Given the description of an element on the screen output the (x, y) to click on. 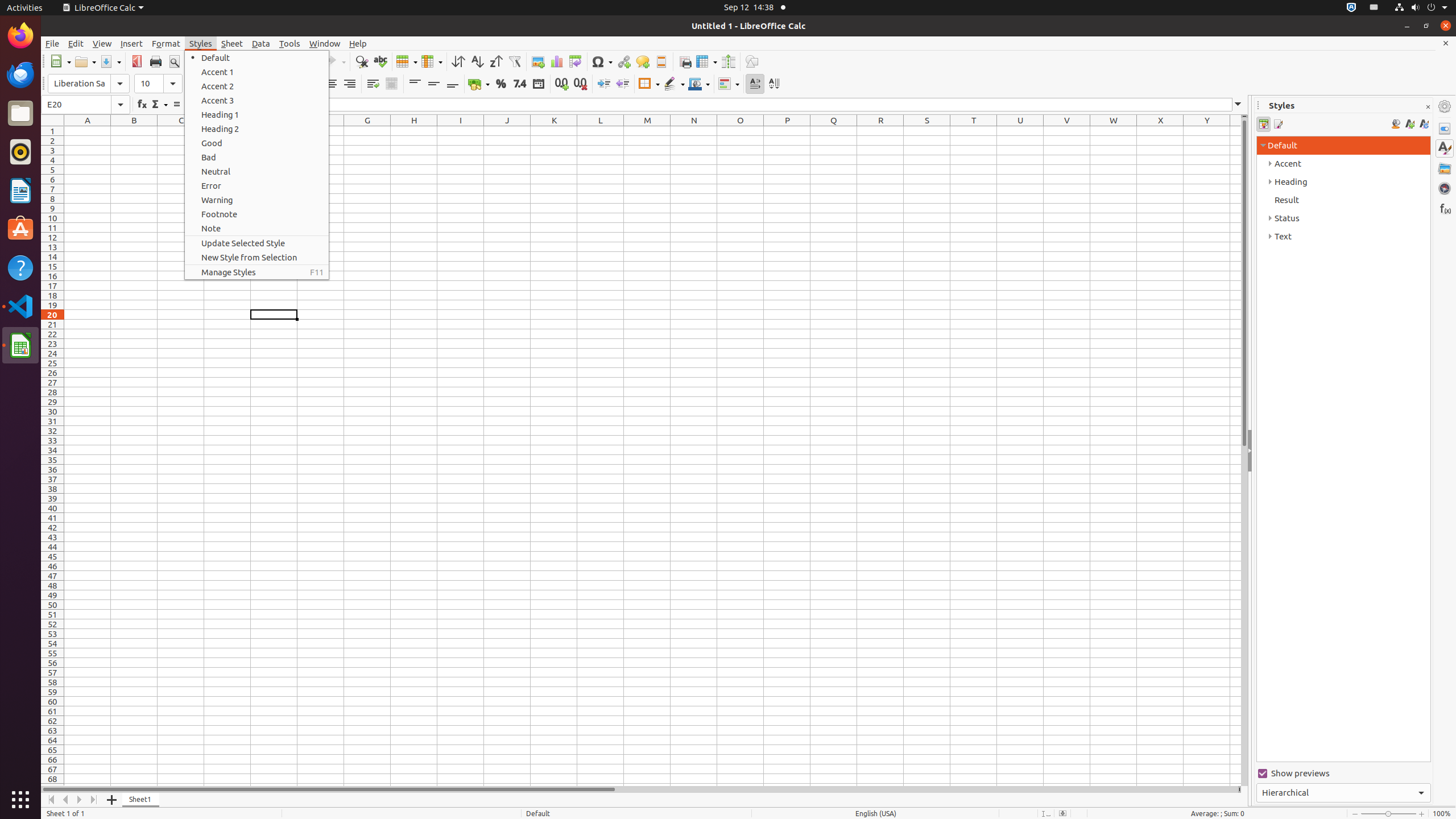
Show Applications Element type: toggle-button (20, 799)
Cell Styles Element type: push-button (1263, 123)
Open Element type: push-button (84, 61)
Formula Element type: push-button (176, 104)
A1 Element type: table-cell (87, 130)
